Given the description of an element on the screen output the (x, y) to click on. 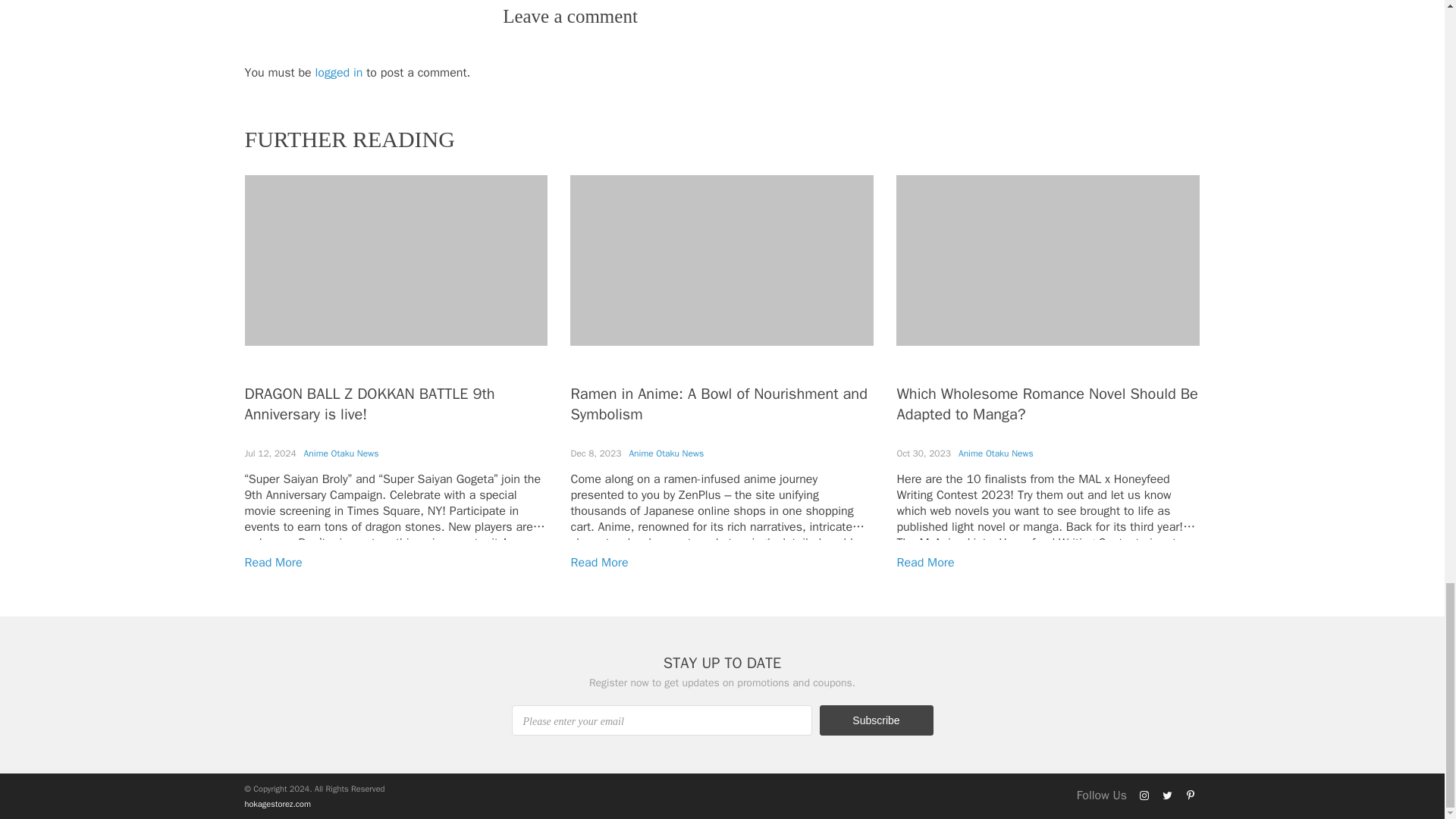
Read More (924, 562)
DRAGON BALL Z DOKKAN BATTLE 9th Anniversary is live! (369, 404)
Anime Otaku News (995, 453)
Anime Otaku News (665, 453)
Read More (598, 562)
Ramen in Anime: A Bowl of Nourishment and Symbolism (718, 404)
Which Wholesome Romance Novel Should Be Adapted to Manga? (1046, 404)
Read More (272, 562)
Anime Otaku News (341, 453)
